Given the description of an element on the screen output the (x, y) to click on. 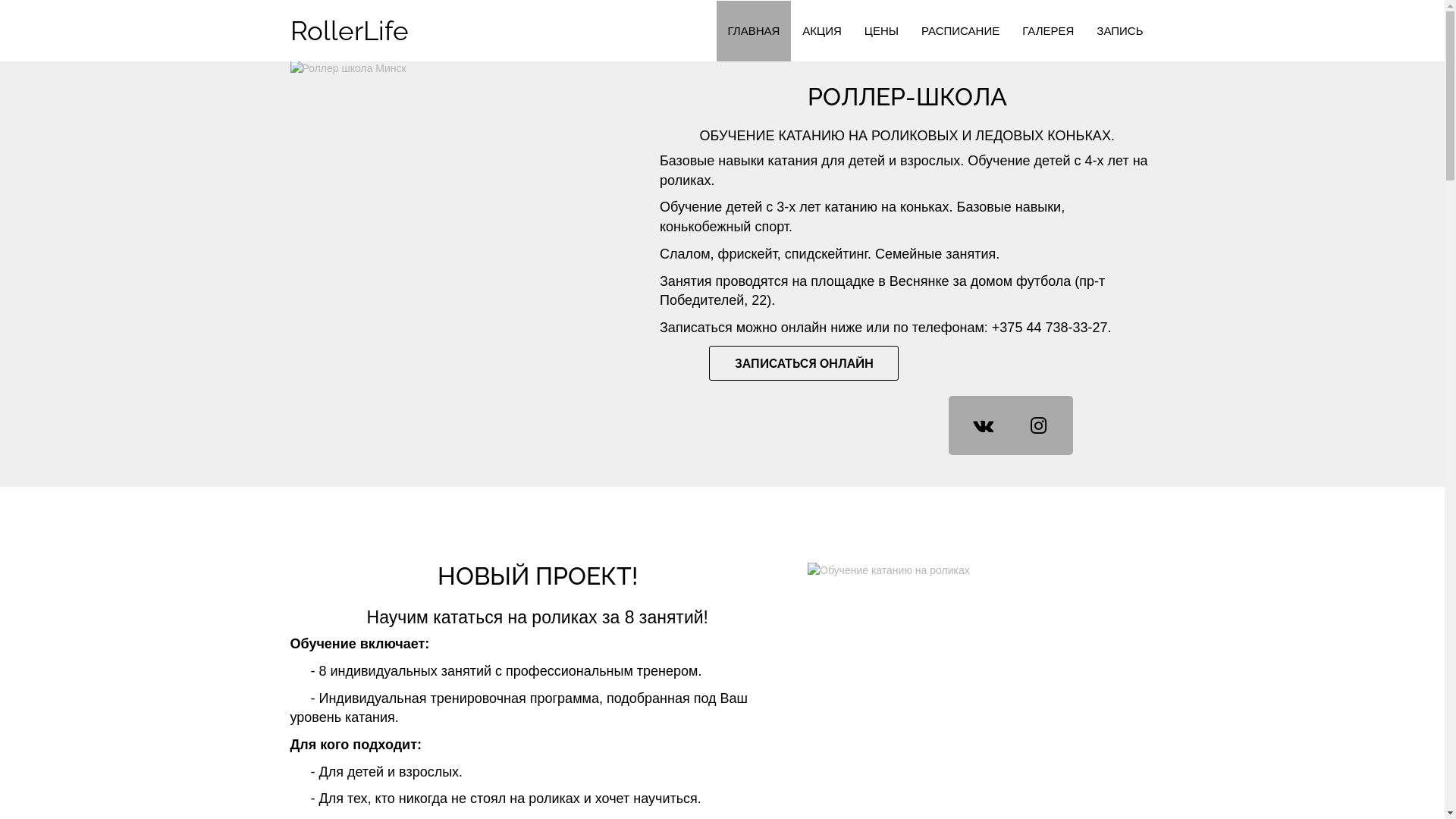
RollerLife Element type: text (349, 30)
